Given the description of an element on the screen output the (x, y) to click on. 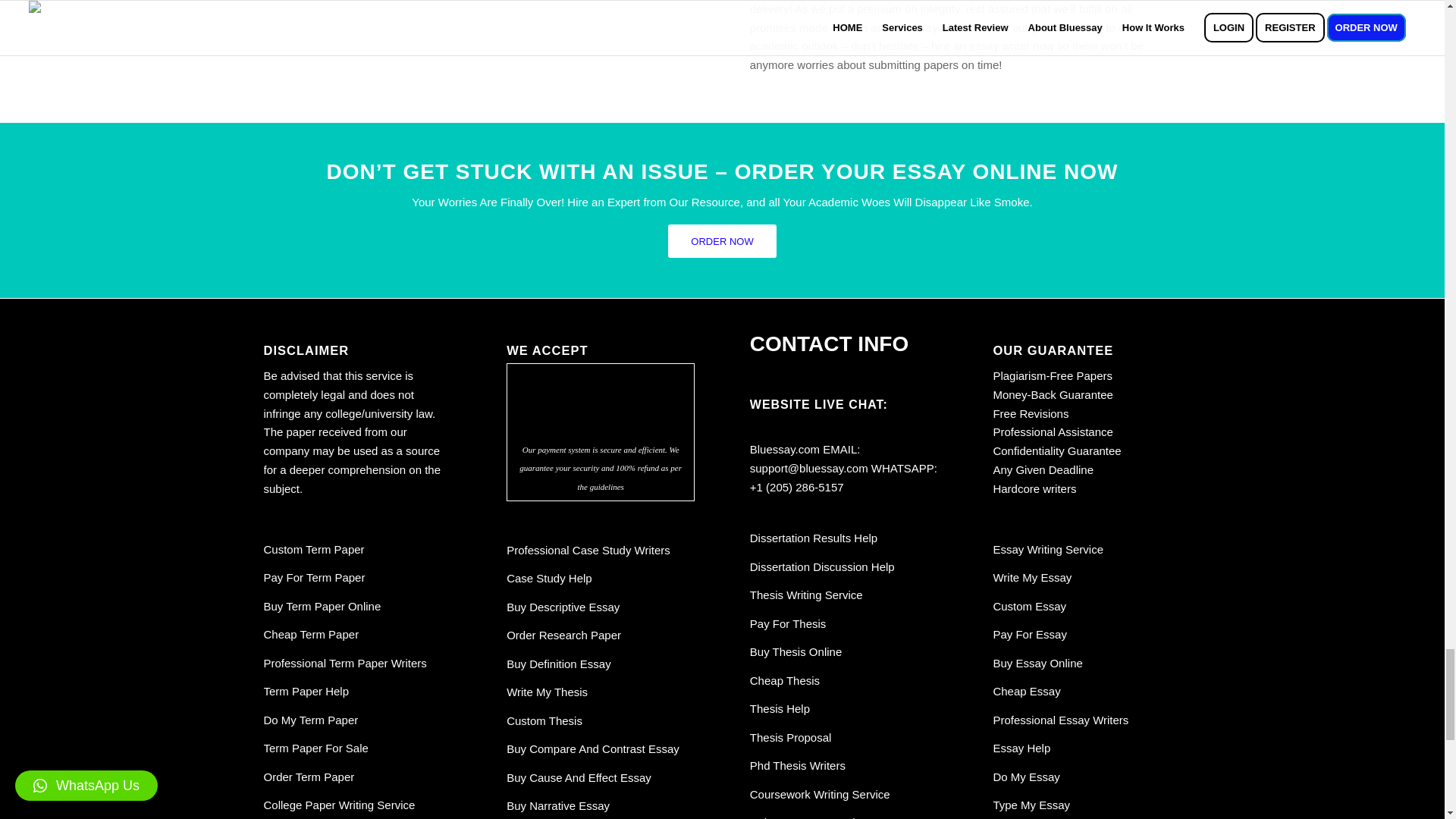
Professional Term Paper Writers (344, 662)
Custom Term Paper (314, 549)
Order Term Paper (309, 776)
ORDER NOW (722, 241)
Do My Term Paper (310, 719)
Pay For Term Paper (314, 576)
Buy Term Paper Online (322, 605)
WE ACCEPT (600, 400)
Term Paper For Sale (315, 748)
Term Paper Help (306, 690)
Cheap Term Paper (311, 634)
